Given the description of an element on the screen output the (x, y) to click on. 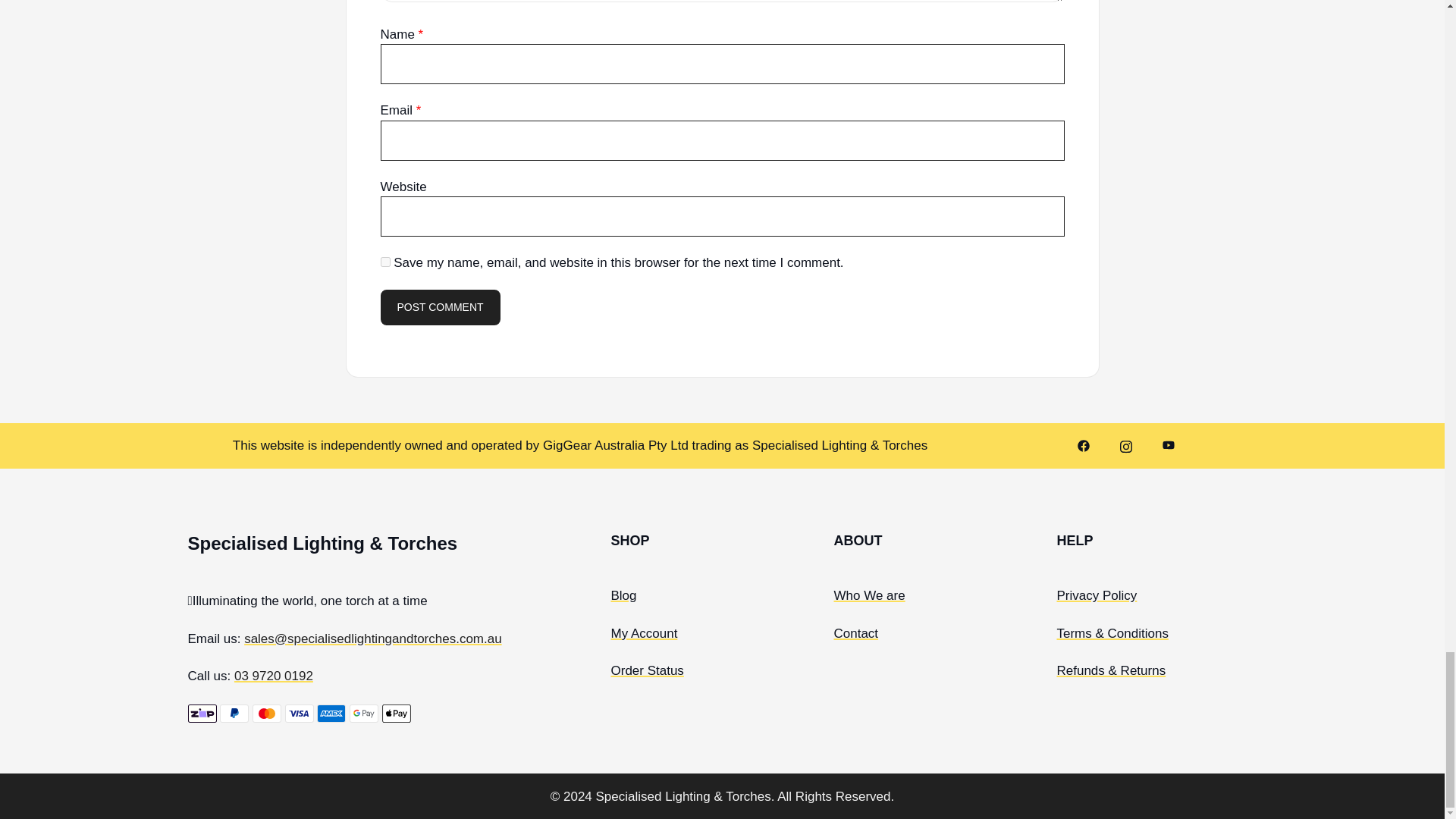
Post Comment (440, 307)
yes (385, 261)
